Given the description of an element on the screen output the (x, y) to click on. 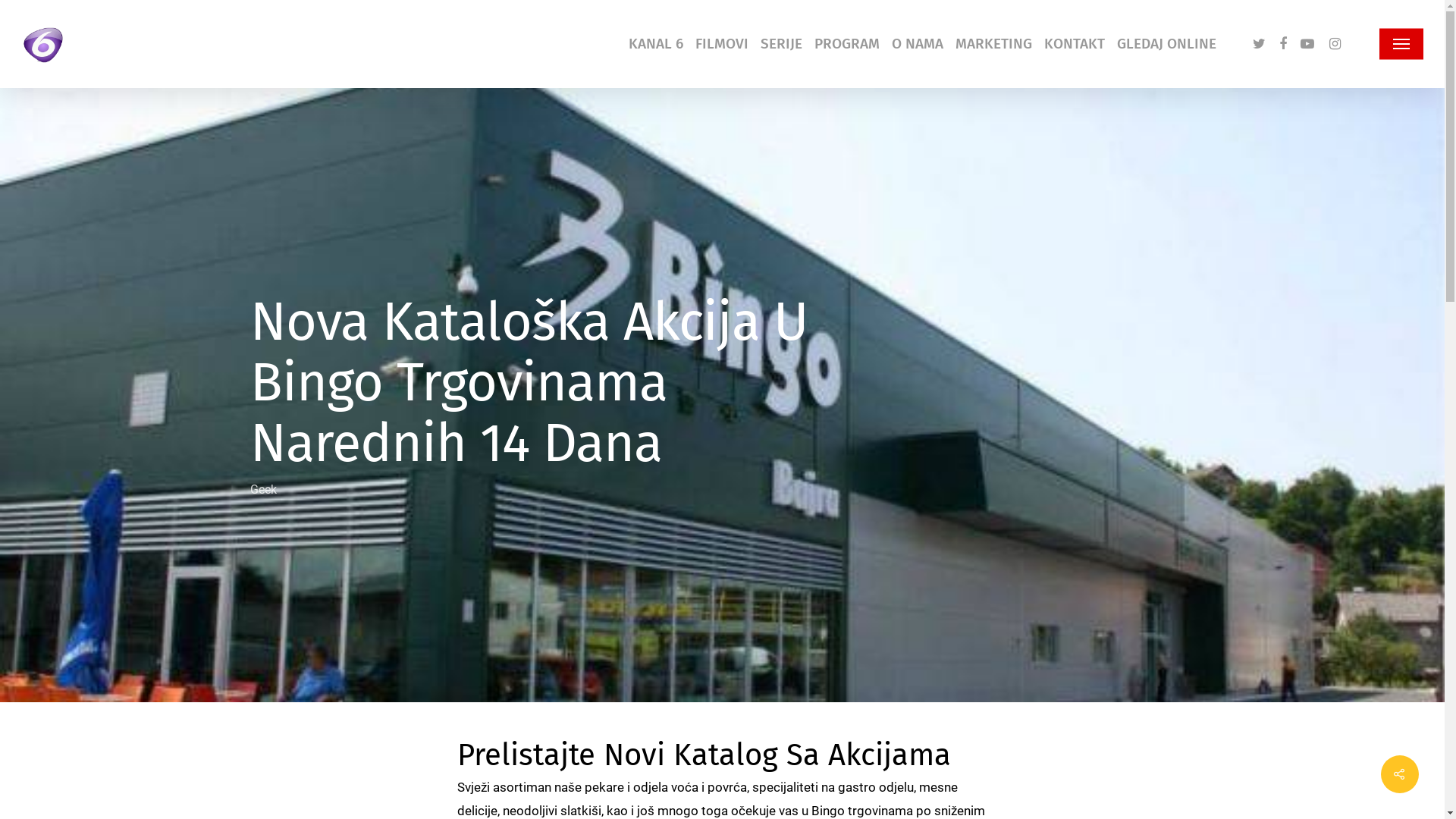
SERIJE Element type: text (781, 43)
O NAMA Element type: text (917, 43)
FILMOVI Element type: text (721, 43)
MARKETING Element type: text (993, 43)
GLEDAJ ONLINE Element type: text (1166, 43)
PROGRAM Element type: text (846, 43)
Geek Element type: text (263, 489)
KONTAKT Element type: text (1074, 43)
KANAL 6 Element type: text (655, 43)
